Given the description of an element on the screen output the (x, y) to click on. 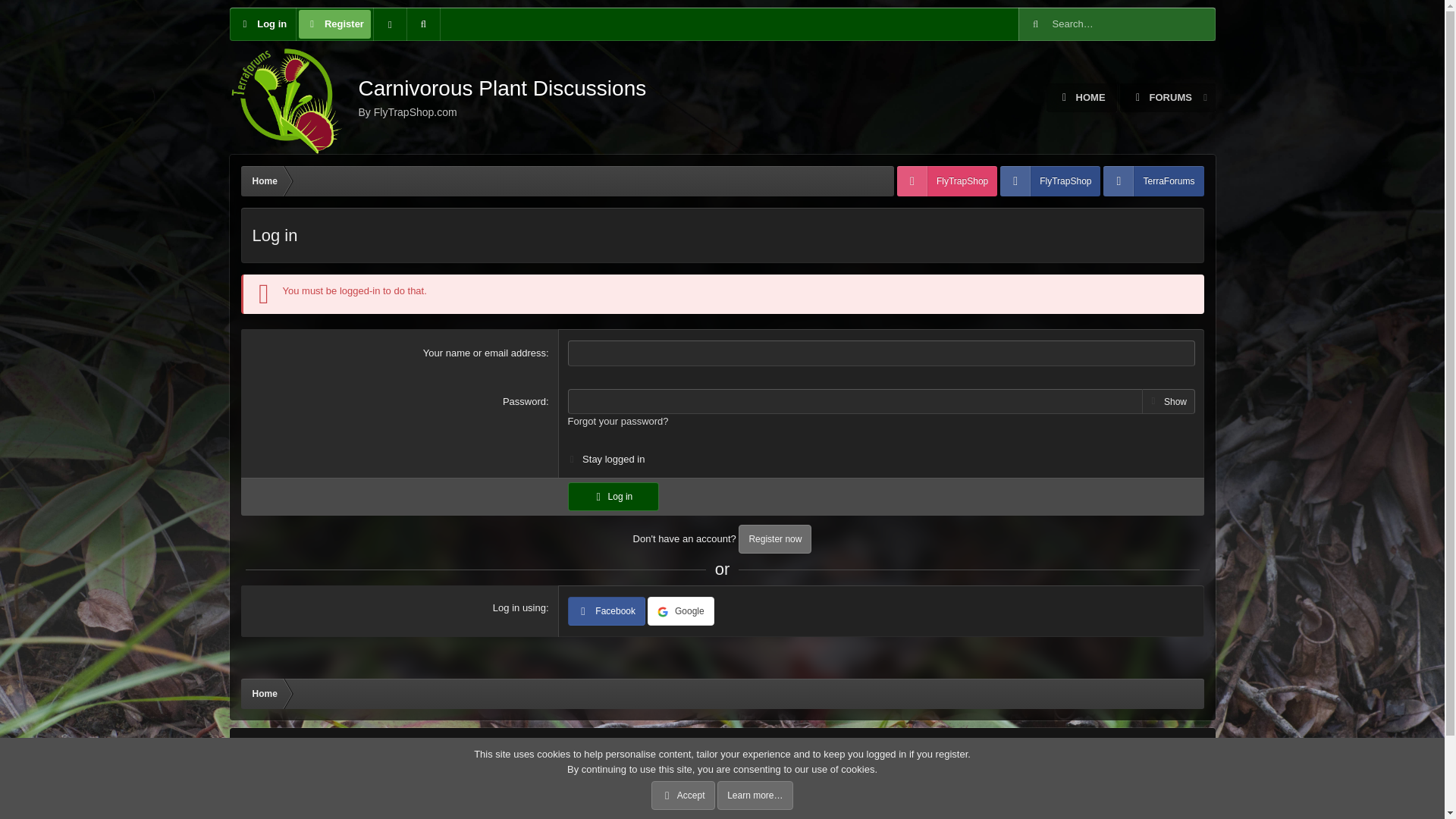
Home (264, 181)
Contact us (934, 750)
Forgot your password? (617, 420)
Carbon (264, 750)
1 (437, 97)
1 (571, 455)
FORUMS (1151, 397)
Register now (1161, 97)
Log in (774, 538)
Register (1130, 97)
FlyTrapShop (261, 23)
Log in (333, 23)
Terms and rules (1050, 181)
